Given the description of an element on the screen output the (x, y) to click on. 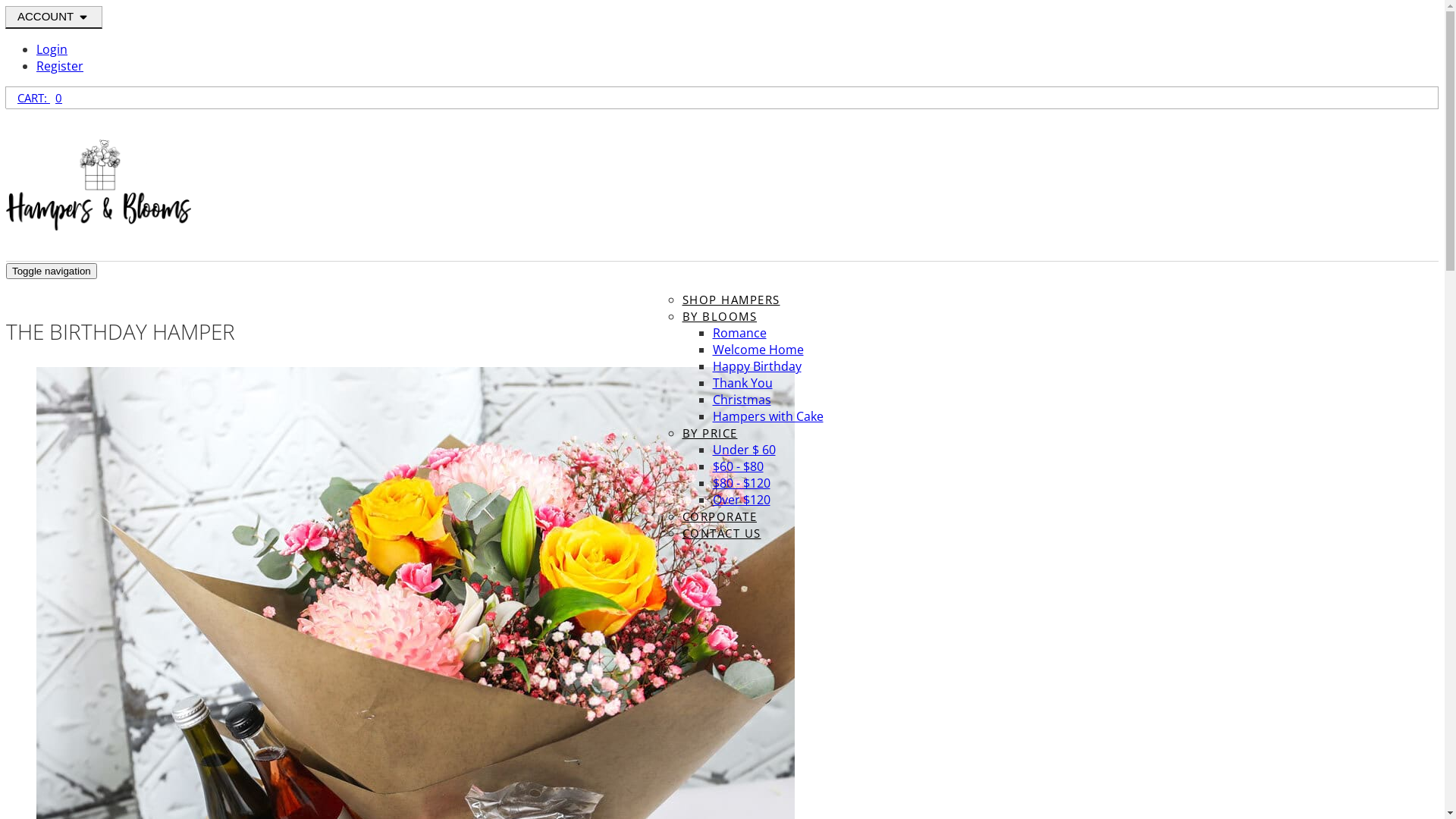
CORPORATE Element type: text (719, 516)
Login Element type: text (51, 48)
CONTACT US Element type: text (721, 532)
Thank You Element type: text (742, 382)
ACCOUNT Element type: text (53, 17)
Hampers with Cake Element type: text (767, 415)
BY BLOOMS Element type: text (719, 315)
$80 - $120 Element type: text (741, 482)
Under $ 60 Element type: text (743, 449)
SHOP HAMPERS Element type: text (731, 299)
Romance Element type: text (739, 332)
Toggle navigation Element type: text (51, 271)
Welcome Home Element type: text (757, 349)
Register Element type: text (59, 65)
Over $120 Element type: text (741, 499)
Happy Birthday Element type: text (756, 365)
BY PRICE Element type: text (709, 432)
$60 - $80 Element type: text (737, 466)
CART: 0 Element type: text (39, 97)
Christmas Element type: text (741, 399)
